Given the description of an element on the screen output the (x, y) to click on. 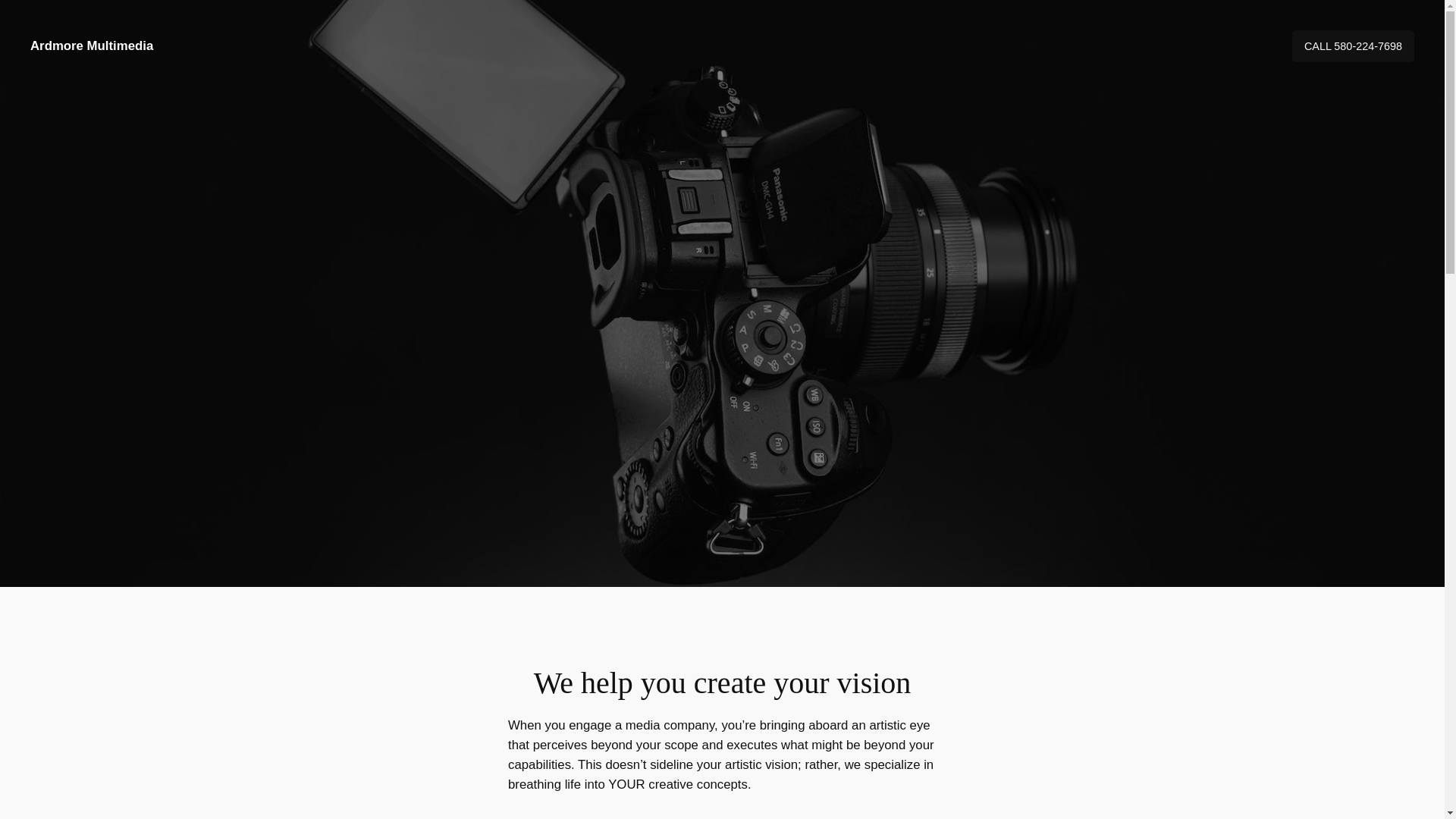
Ardmore Multimedia (91, 45)
CALL 580-224-7698 (1352, 46)
